Given the description of an element on the screen output the (x, y) to click on. 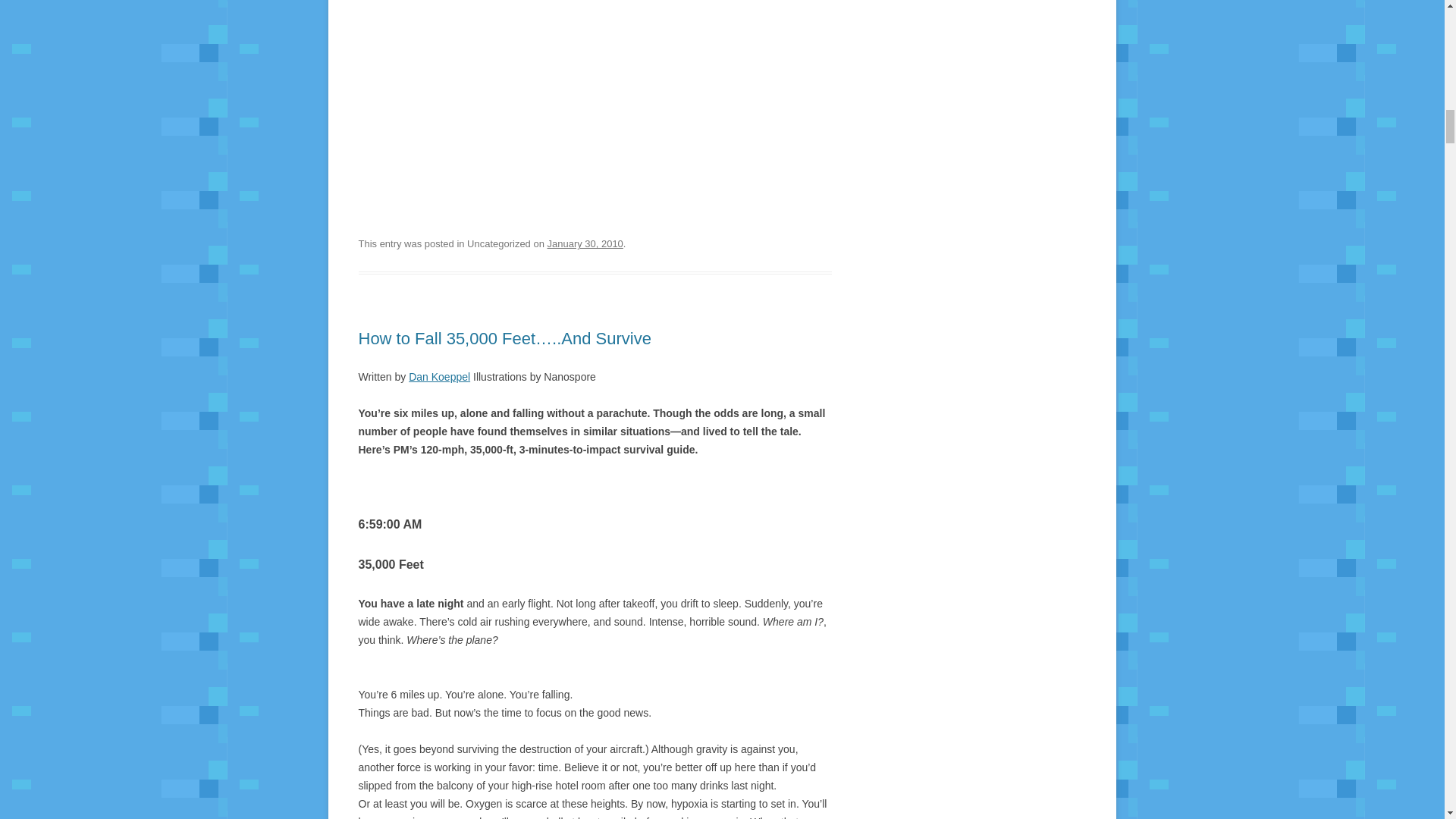
8:27 pm (585, 243)
